Given the description of an element on the screen output the (x, y) to click on. 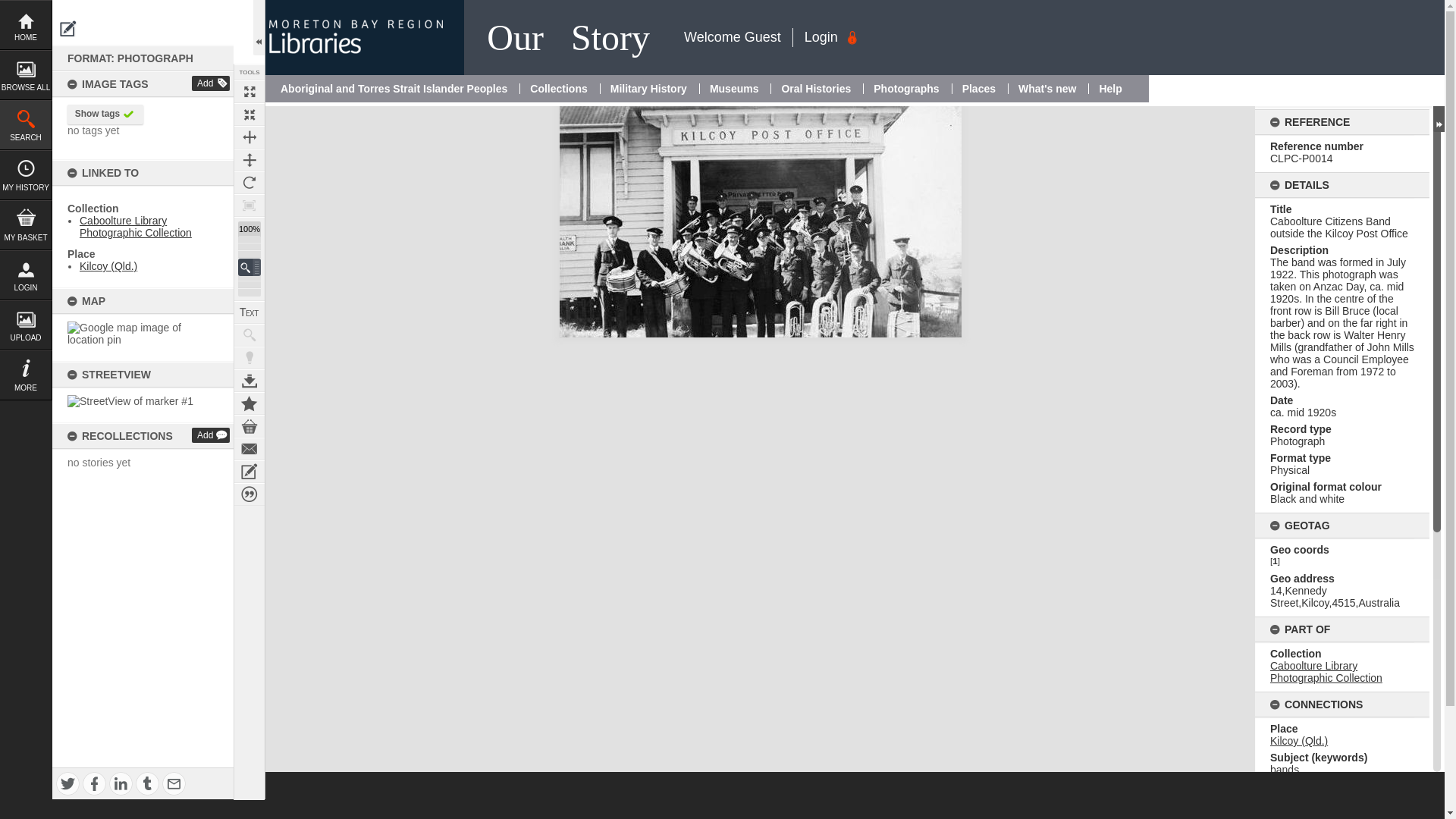
Add to My Collection (249, 403)
Highlight keywords (249, 357)
Contact us about this (249, 448)
Share this on LinkedIn (120, 783)
Share this on Facebook (94, 783)
MORE (25, 375)
Suggest an edit to this item (68, 28)
Share this on Tumblr (146, 783)
Between 1st January 1924 and 31st December 1926 (1302, 412)
Show keyword hits (249, 334)
MY BASKET (25, 224)
Fit to screen (249, 114)
BROWSE ALL (25, 74)
Add (211, 83)
Rotate 90 degrees (249, 182)
